Given the description of an element on the screen output the (x, y) to click on. 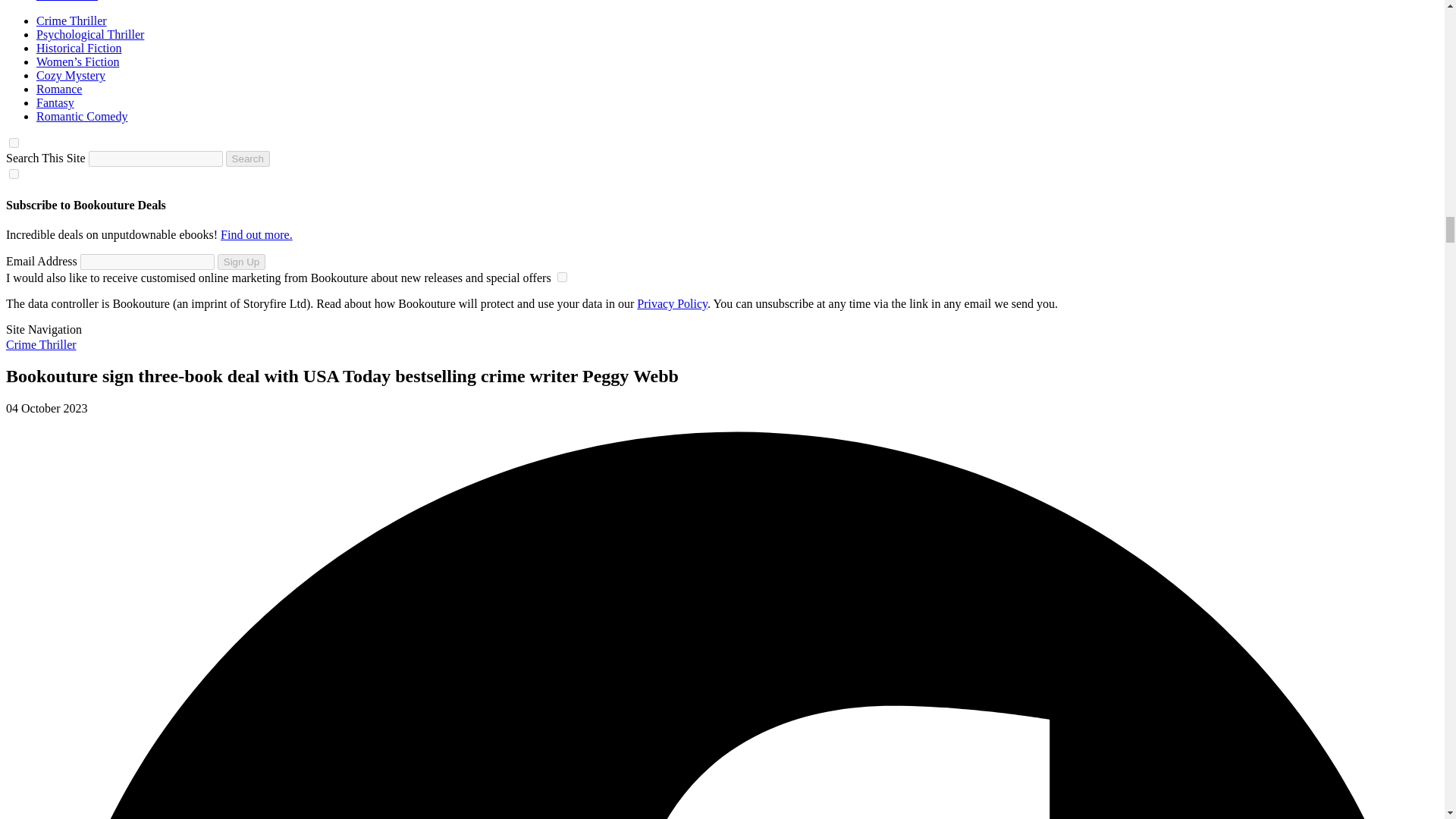
Search (247, 158)
true (562, 276)
Submissions (66, 0)
Crime Thriller (71, 20)
Psychological Thriller (90, 33)
Romance (58, 88)
Historical Fiction (78, 47)
Find out more. (256, 234)
Romantic Comedy (82, 115)
Crime Thriller (41, 344)
